Given the description of an element on the screen output the (x, y) to click on. 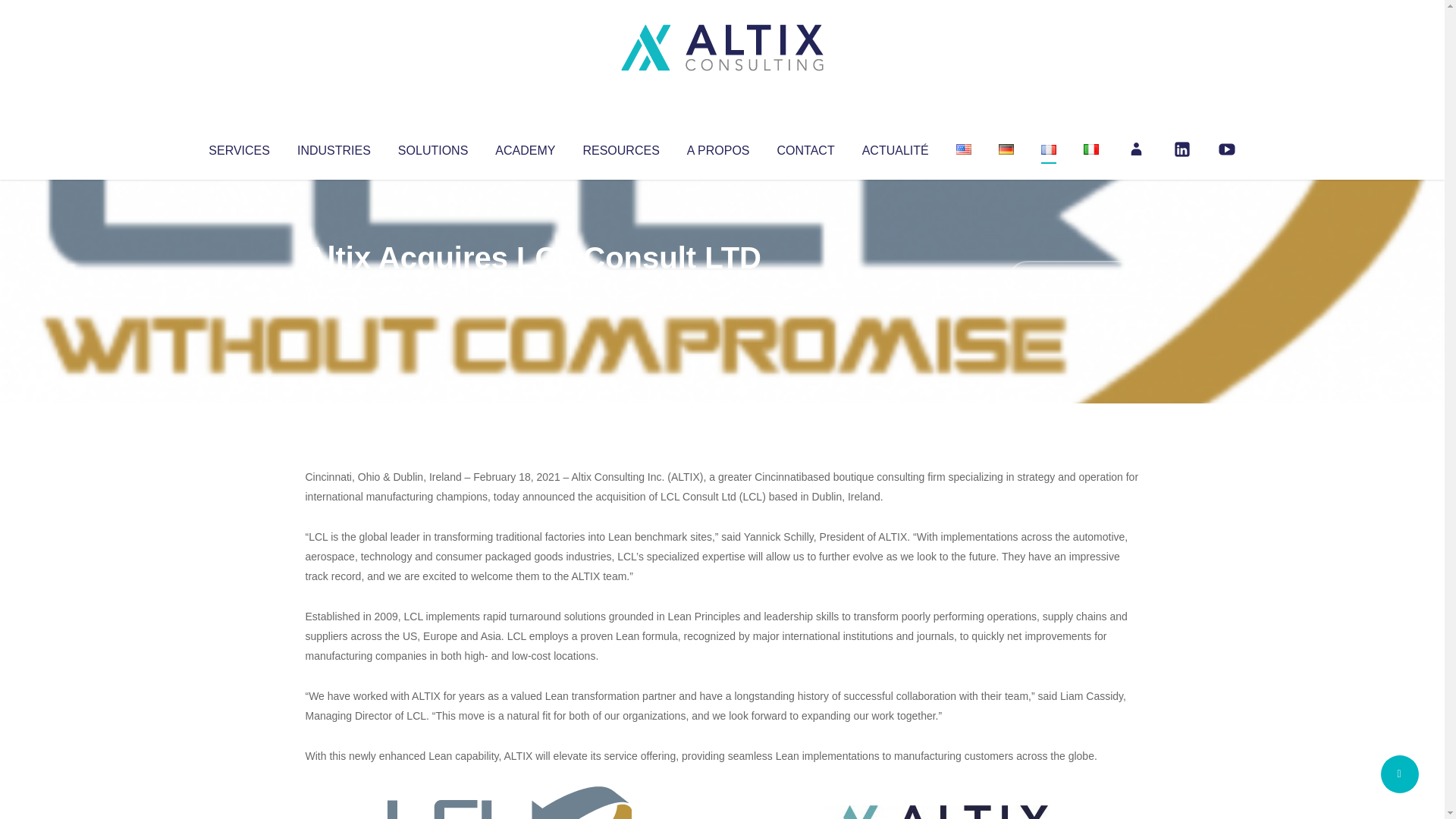
RESOURCES (620, 146)
SOLUTIONS (432, 146)
A PROPOS (718, 146)
INDUSTRIES (334, 146)
Uncategorized (530, 287)
ACADEMY (524, 146)
Altix (333, 287)
SERVICES (238, 146)
No Comments (1073, 278)
Articles par Altix (333, 287)
